Given the description of an element on the screen output the (x, y) to click on. 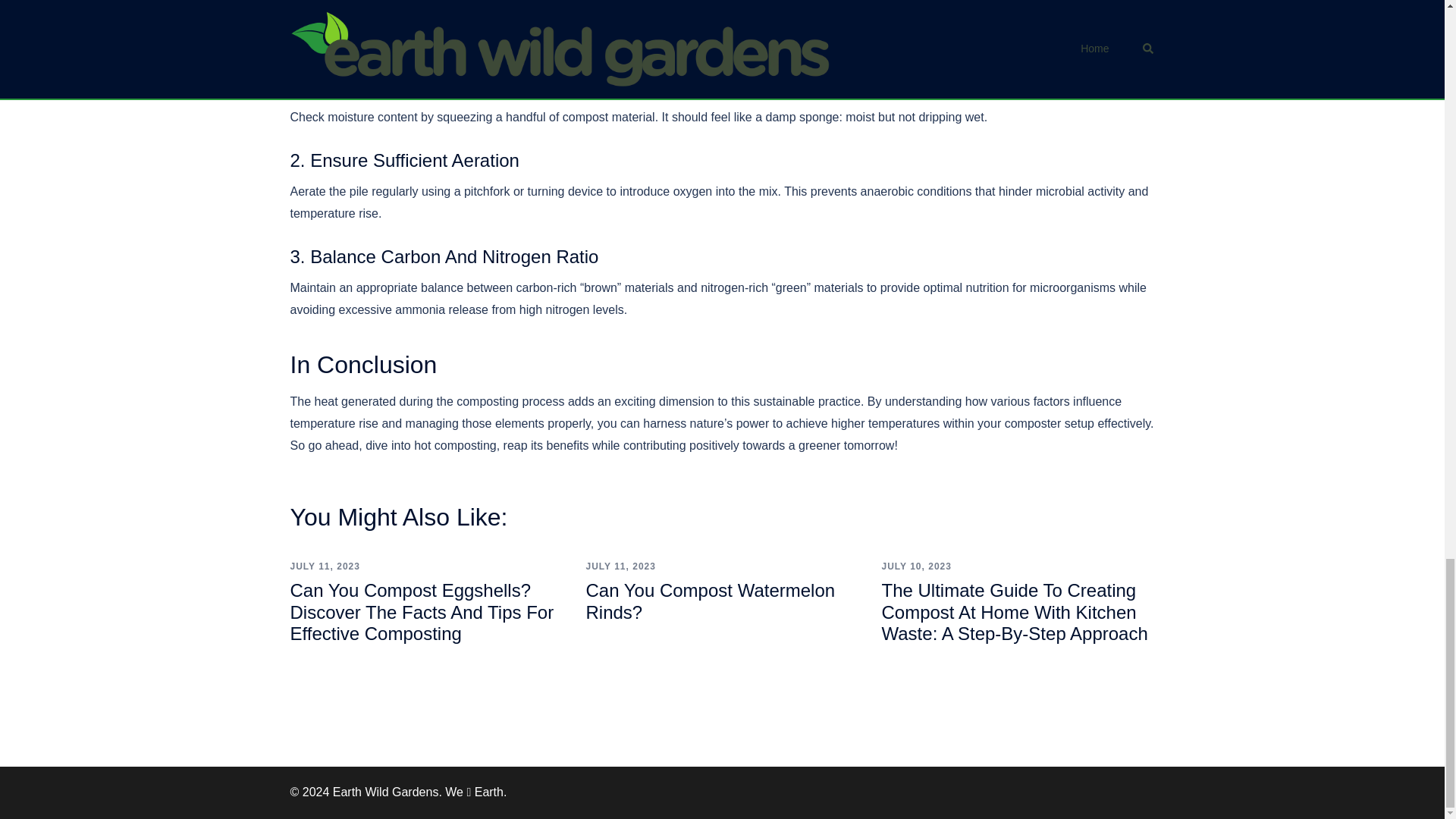
JULY 11, 2023 (324, 566)
JULY 11, 2023 (620, 566)
Can You Compost Watermelon Rinds? (709, 600)
JULY 10, 2023 (915, 566)
